Given the description of an element on the screen output the (x, y) to click on. 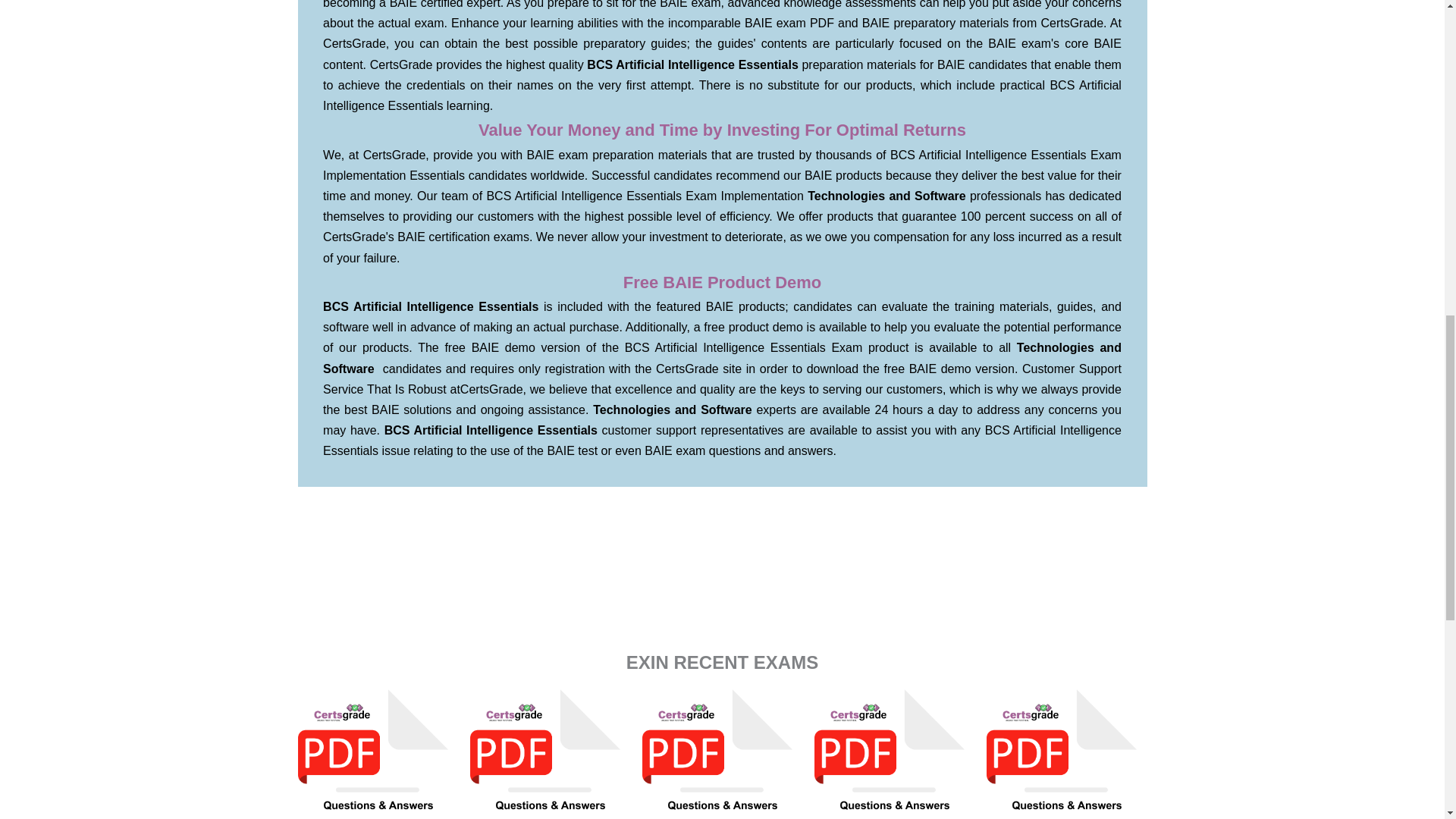
MSPF (377, 754)
GRITC - EXIN Green IT Citizen (1066, 754)
Managing Successful Programmes Foundation (377, 754)
EXIN BCS Service Integration and Management (894, 754)
DEVOPSF (550, 754)
EXIN DevOps Foundation (550, 754)
